Given the description of an element on the screen output the (x, y) to click on. 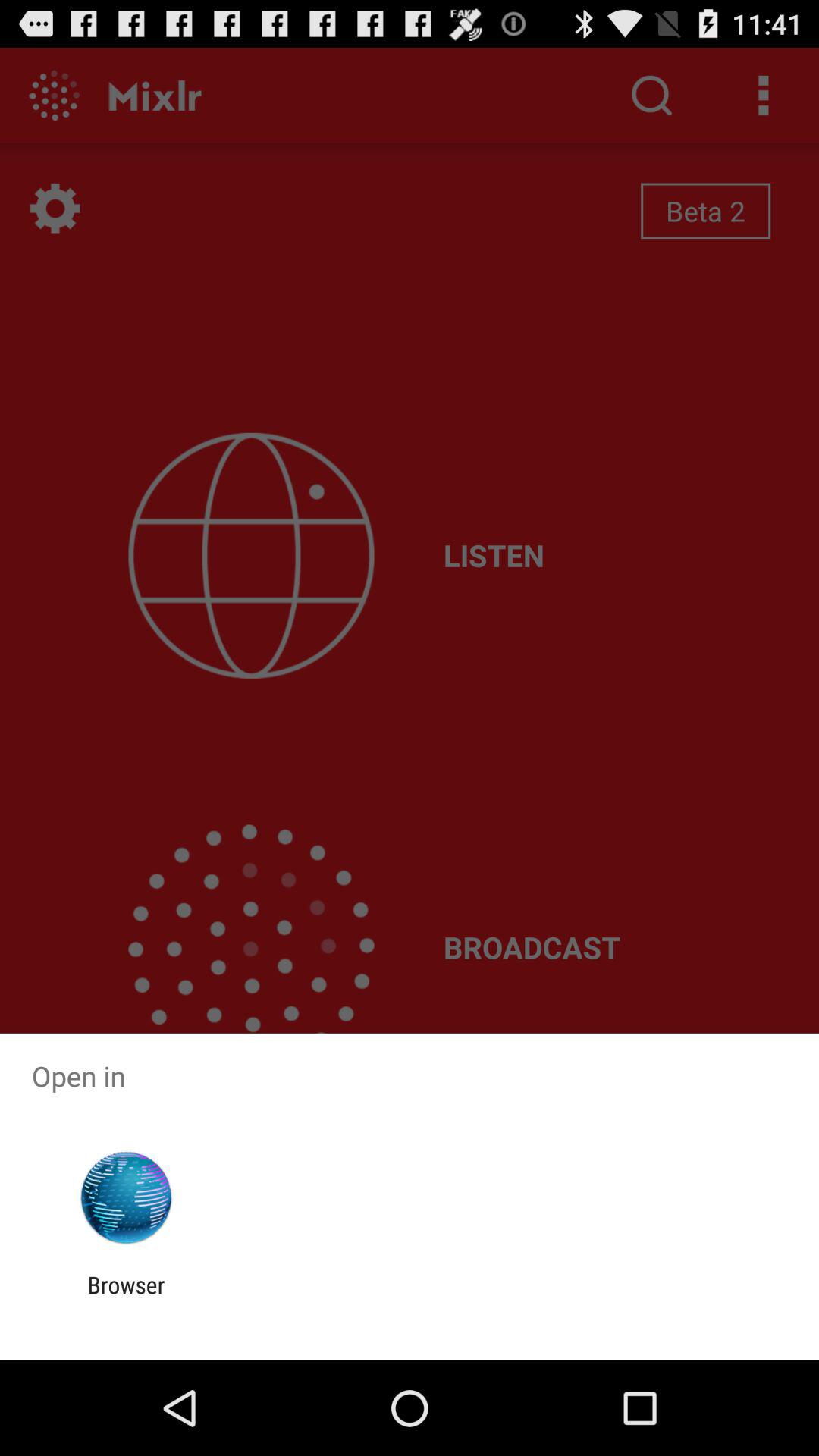
launch app below open in (126, 1198)
